Given the description of an element on the screen output the (x, y) to click on. 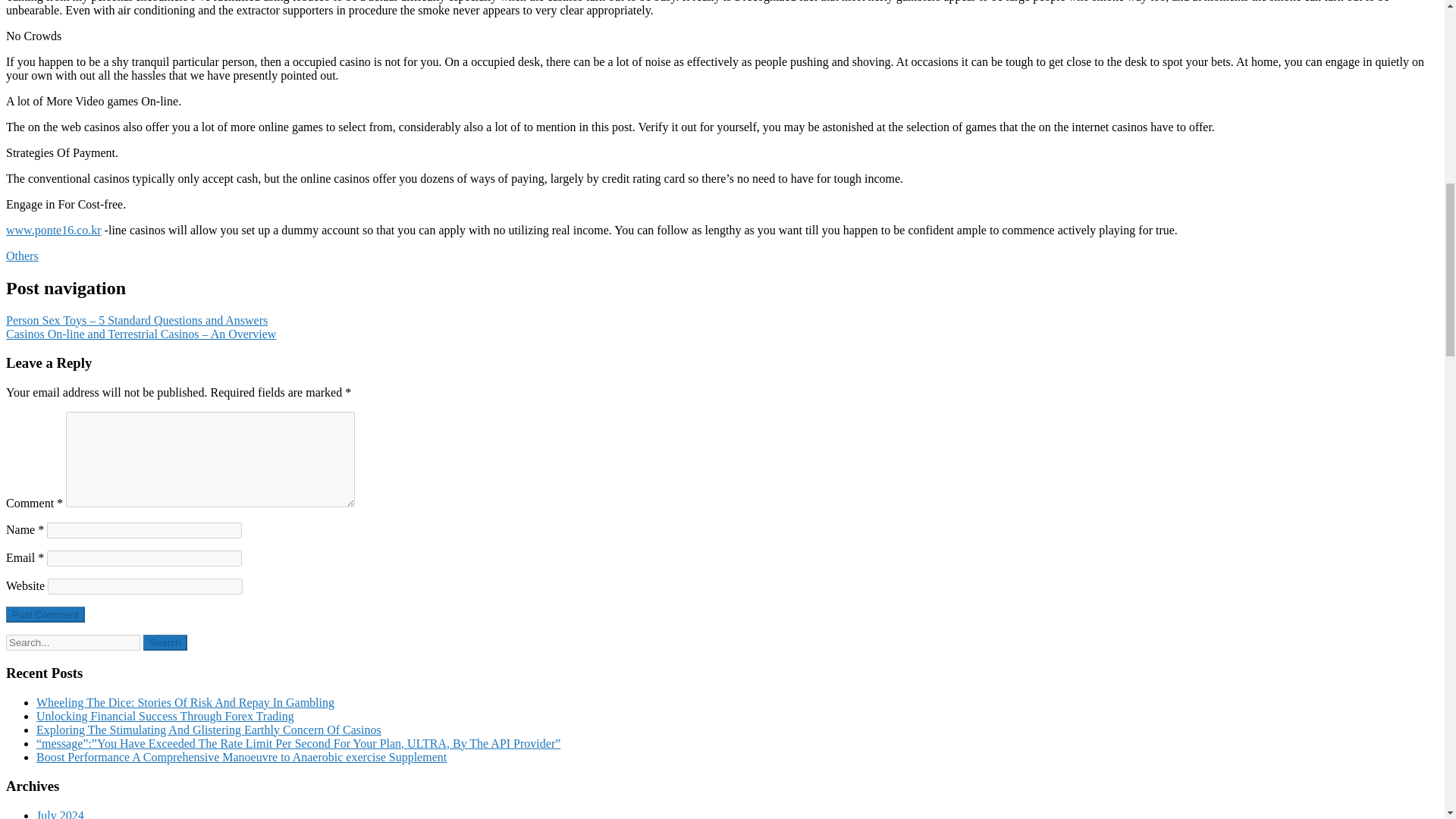
Others (22, 255)
Wheeling The Dice: Stories Of Risk And Repay In Gambling (185, 702)
Unlocking Financial Success Through Forex Trading (165, 716)
www.ponte16.co.kr (53, 229)
Post Comment (44, 614)
Search (164, 642)
Search (164, 642)
Post Comment (44, 614)
July 2024 (60, 814)
Search (164, 642)
